Given the description of an element on the screen output the (x, y) to click on. 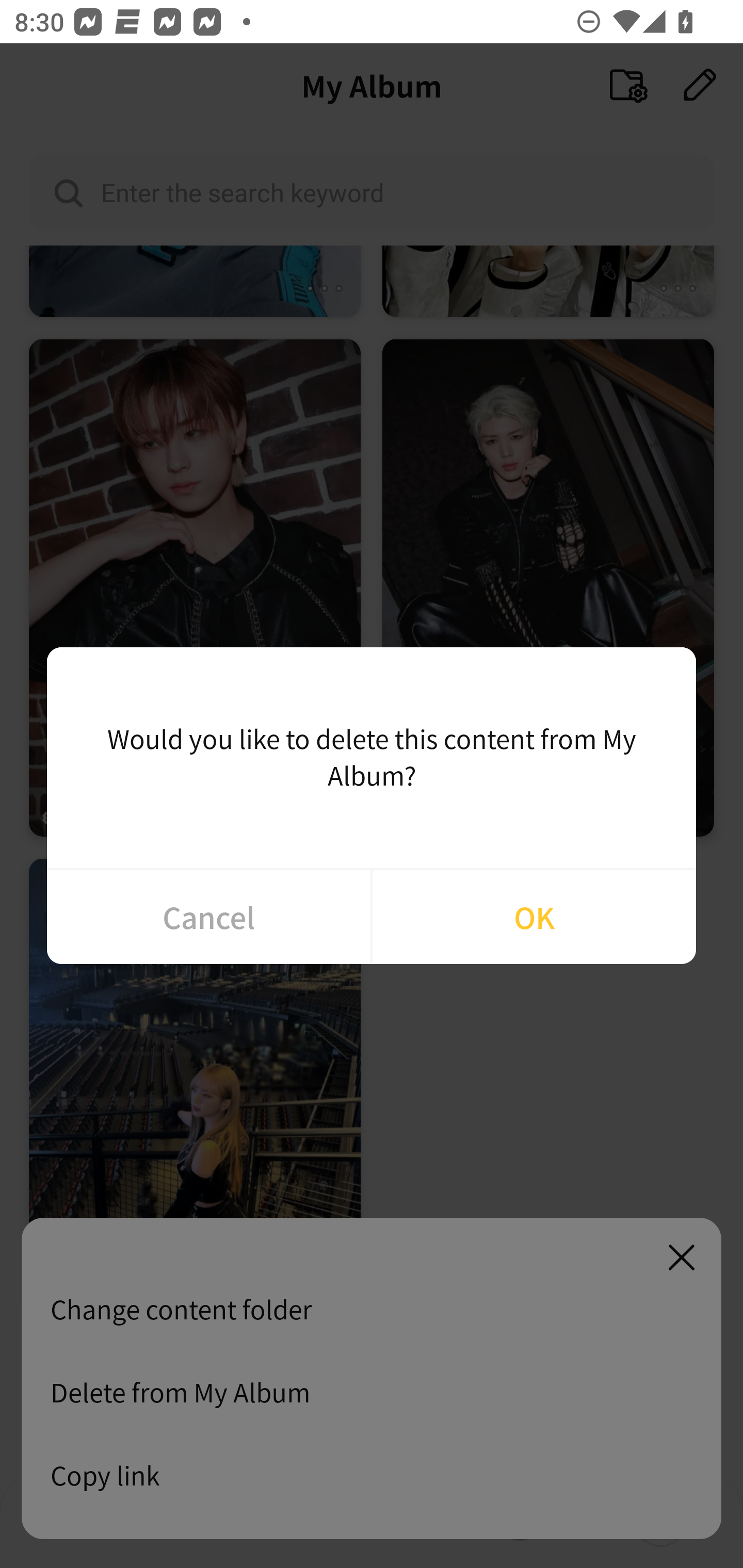
Cancel (208, 917)
OK (534, 917)
